Given the description of an element on the screen output the (x, y) to click on. 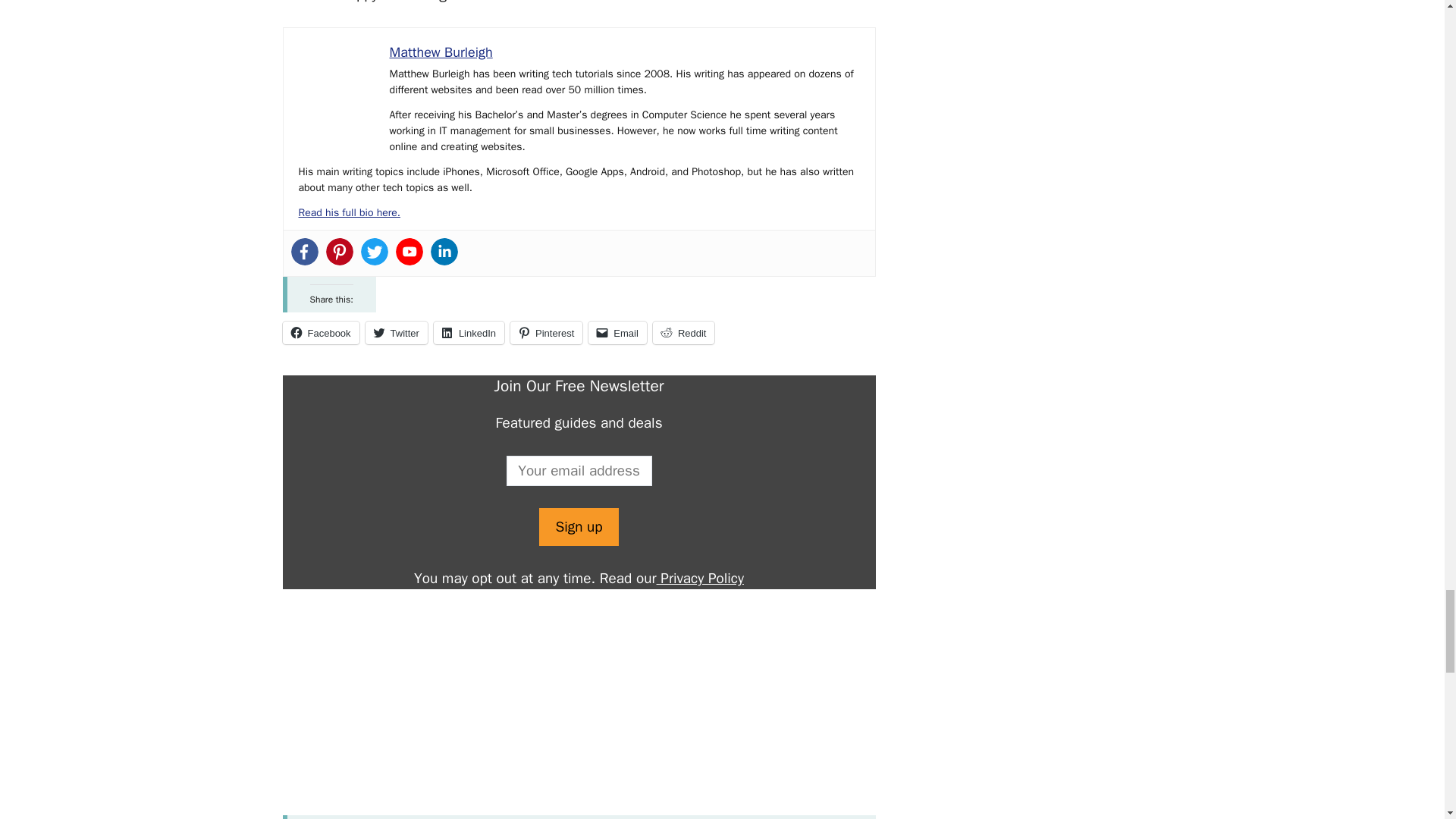
Sign up (577, 527)
Matthew Burleigh (441, 52)
Privacy Policy (700, 578)
Read his full bio here. (349, 212)
Sign up (577, 527)
Reddit (683, 332)
LinkedIn (468, 332)
Facebook (320, 332)
Email (617, 332)
Twitter (396, 332)
Pinterest (546, 332)
